Given the description of an element on the screen output the (x, y) to click on. 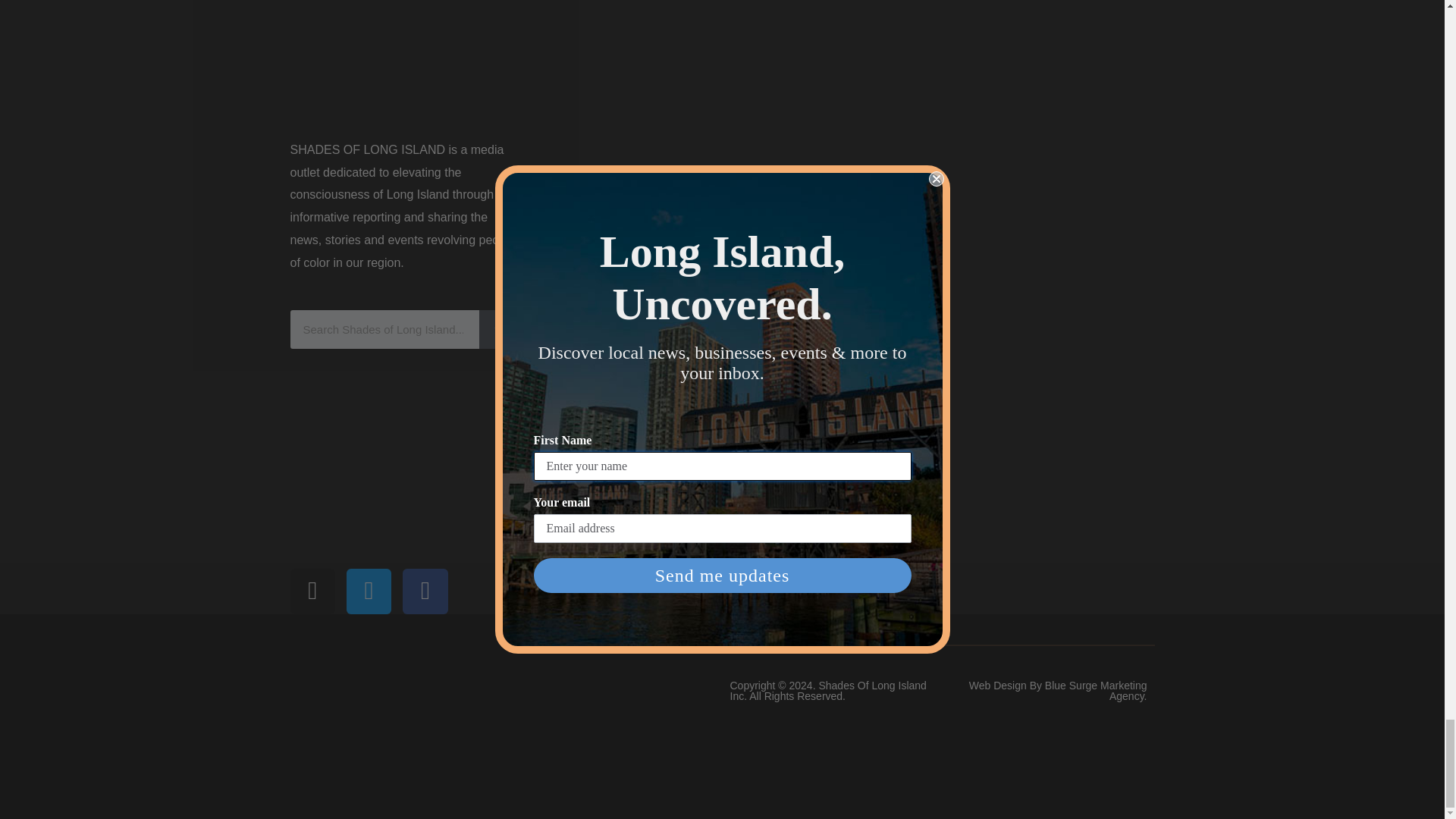
Search (384, 329)
Search (498, 329)
